Given the description of an element on the screen output the (x, y) to click on. 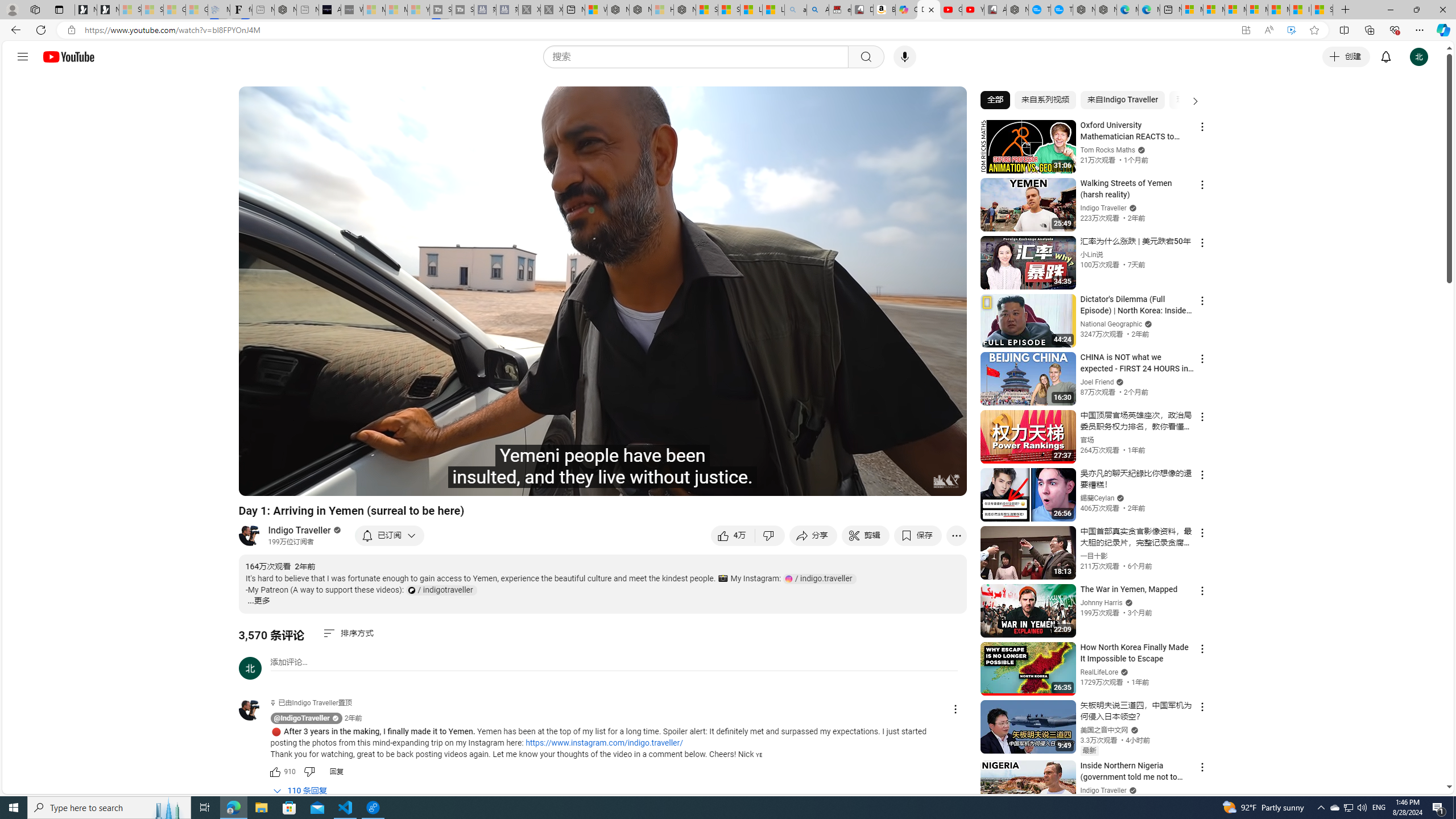
Nordace - My Account (1017, 9)
Microsoft account | Microsoft Account Privacy Settings (1214, 9)
The most popular Google 'how to' searches (1061, 9)
Microsoft account | Privacy (1256, 9)
Newsletter Sign Up (107, 9)
